Given the description of an element on the screen output the (x, y) to click on. 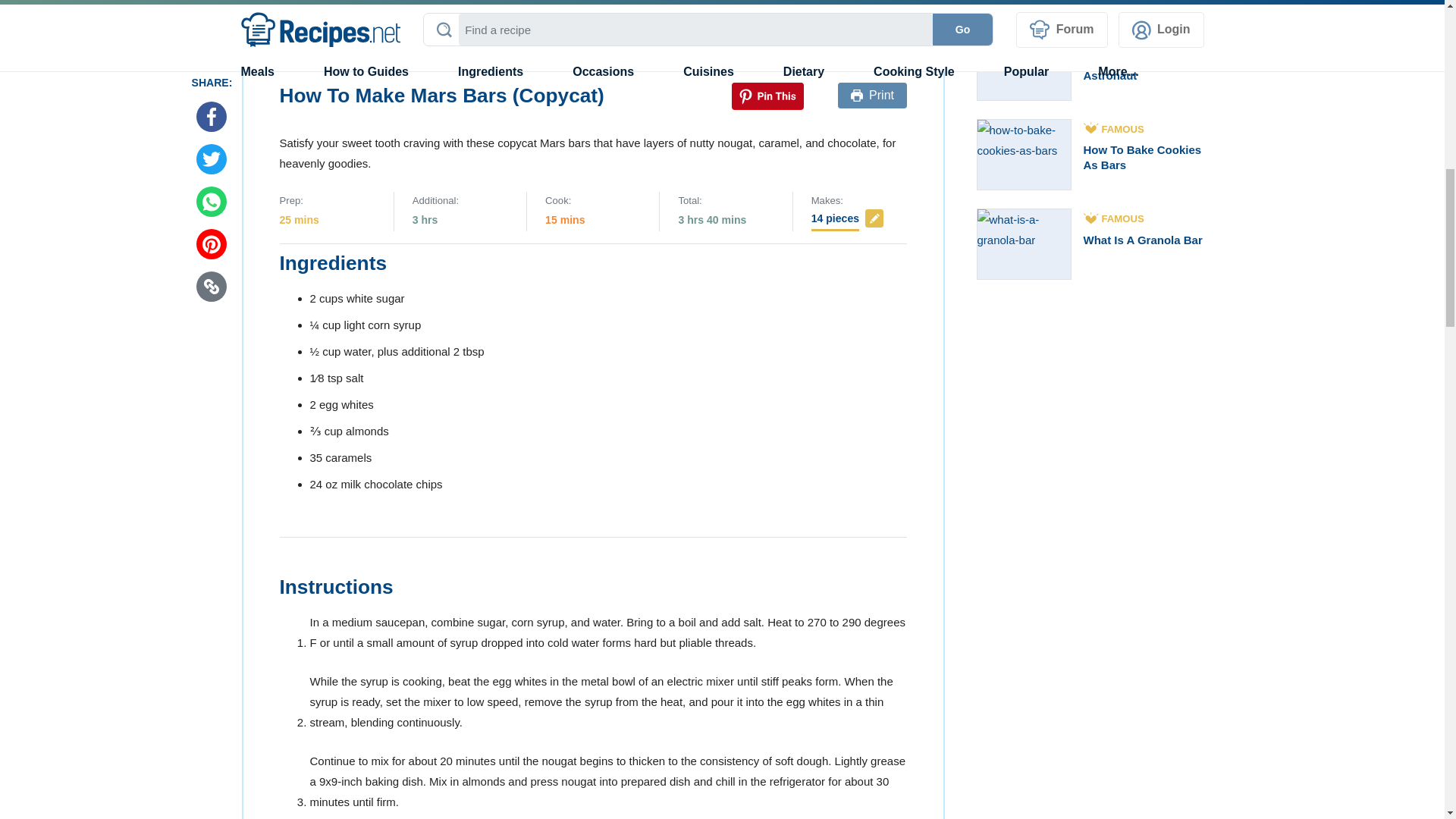
Share on Pinterest (767, 95)
